Given the description of an element on the screen output the (x, y) to click on. 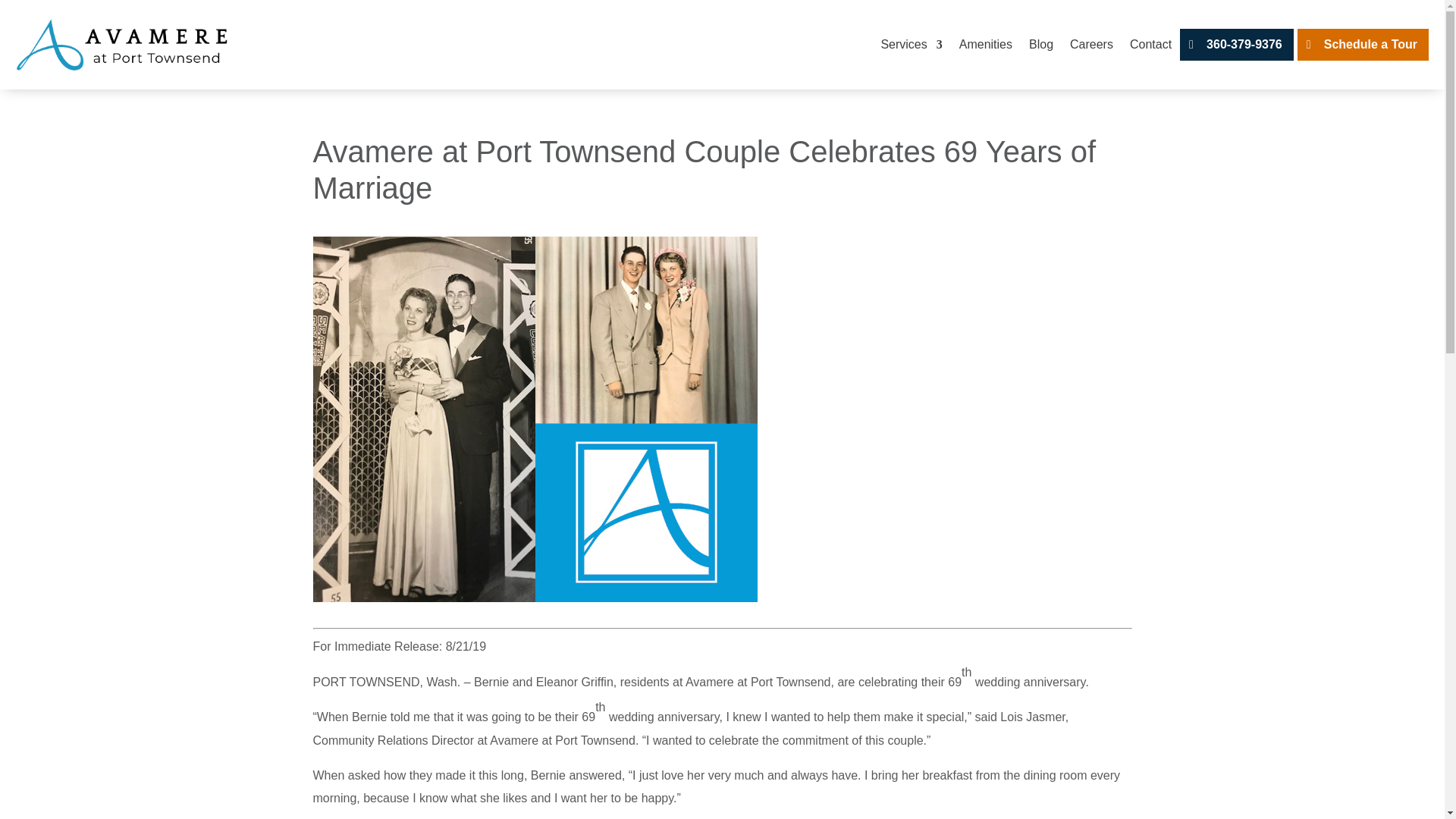
Schedule a Tour (1362, 44)
Avamere at Port Townsend (758, 681)
Amenities (985, 44)
360-379-9376 (1236, 44)
Services (911, 44)
